Given the description of an element on the screen output the (x, y) to click on. 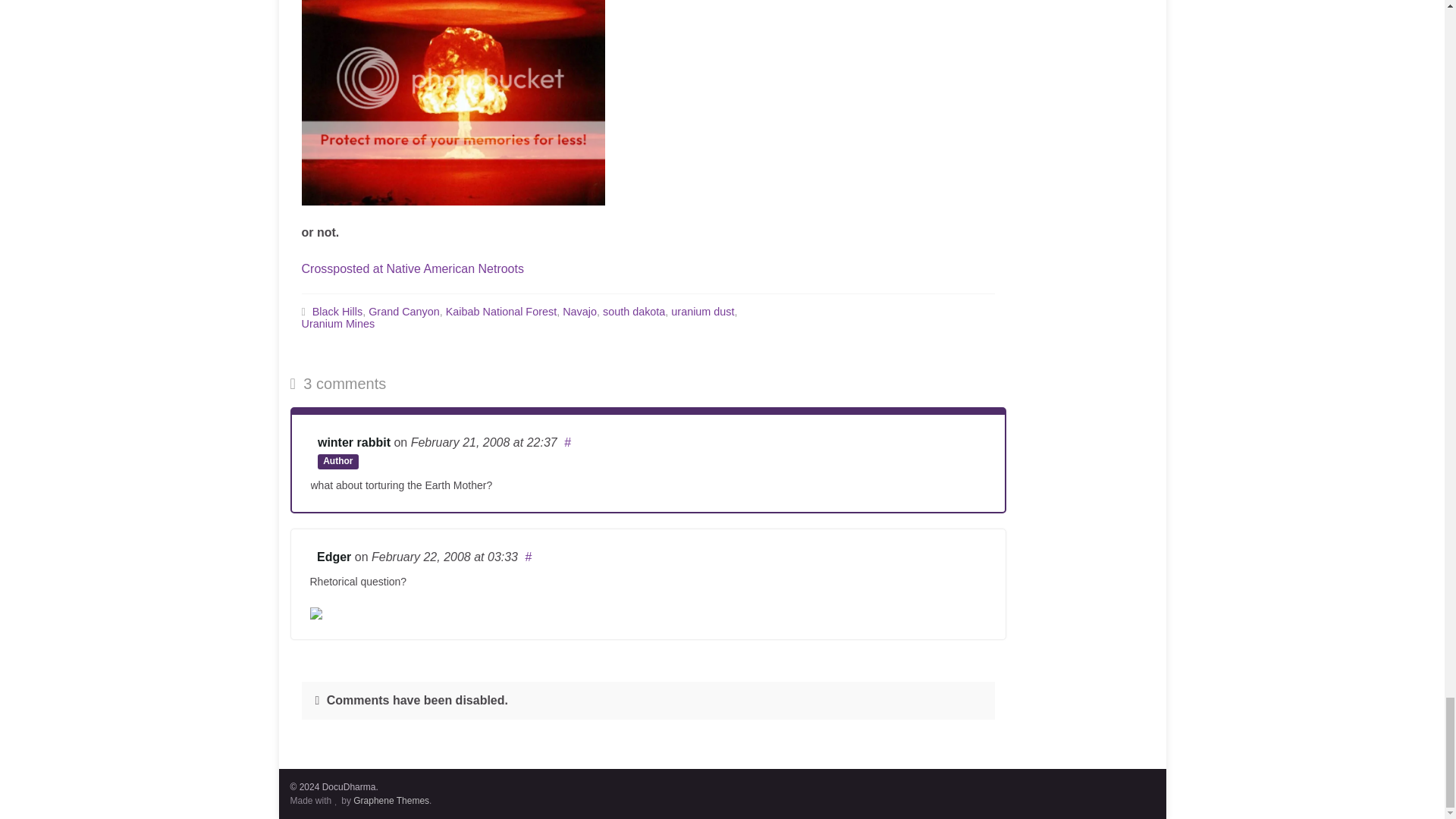
Navajo (579, 310)
winter rabbit (353, 440)
Kaibab National Forest (500, 310)
uranium dust (702, 310)
Graphene Themes (391, 799)
Crossposted at Native American Netroots (412, 268)
Edger (333, 556)
south dakota (633, 310)
Uranium Mines (338, 322)
Grand Canyon (403, 310)
Black Hills (337, 310)
